Given the description of an element on the screen output the (x, y) to click on. 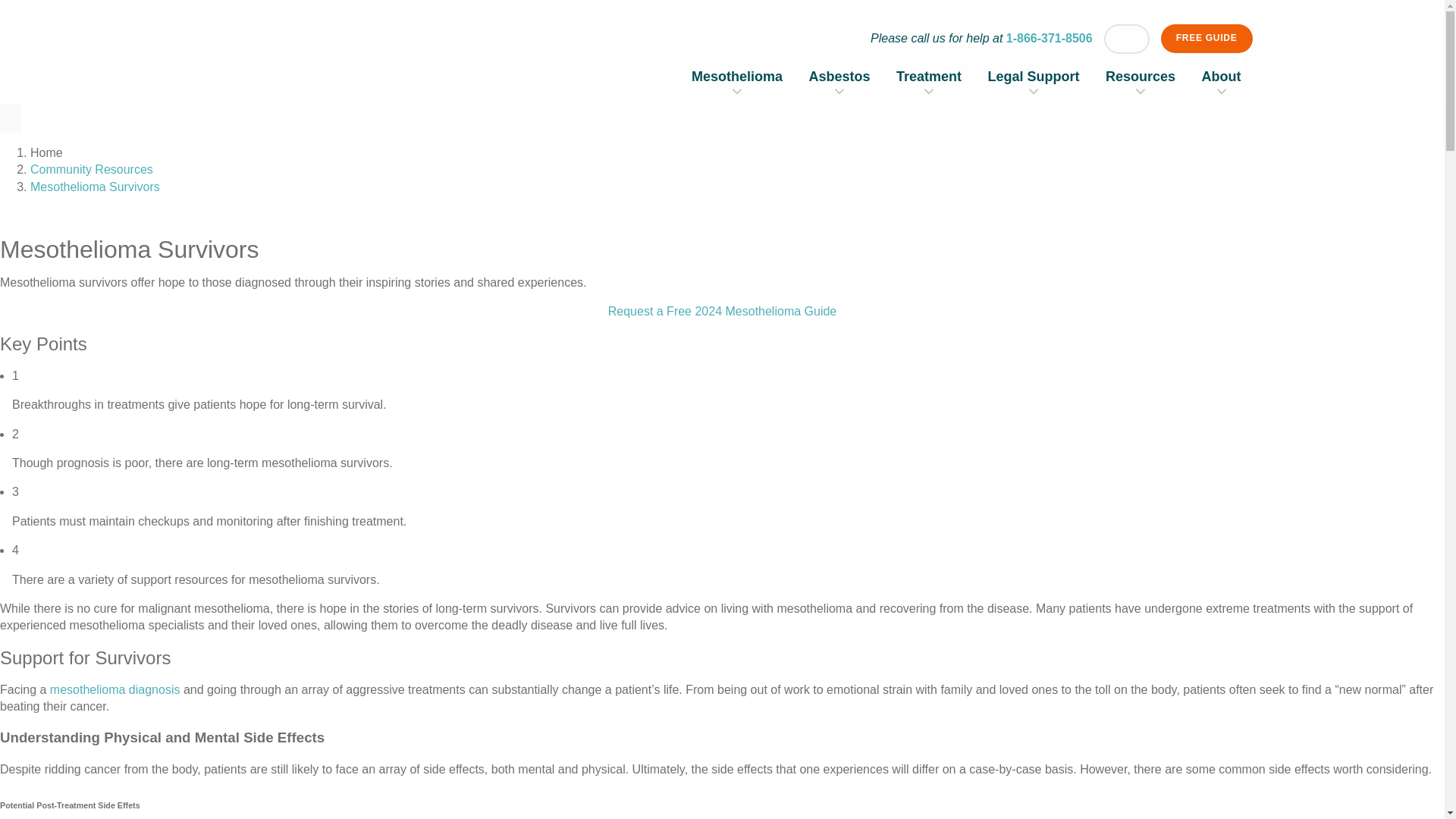
1-866-371-8506 (1049, 38)
Resources (1139, 76)
Home (323, 63)
FREE GUIDE (1206, 38)
Treatment (928, 76)
Mesothelioma (737, 76)
Asbestos (839, 76)
Legal Support (1034, 76)
